Given the description of an element on the screen output the (x, y) to click on. 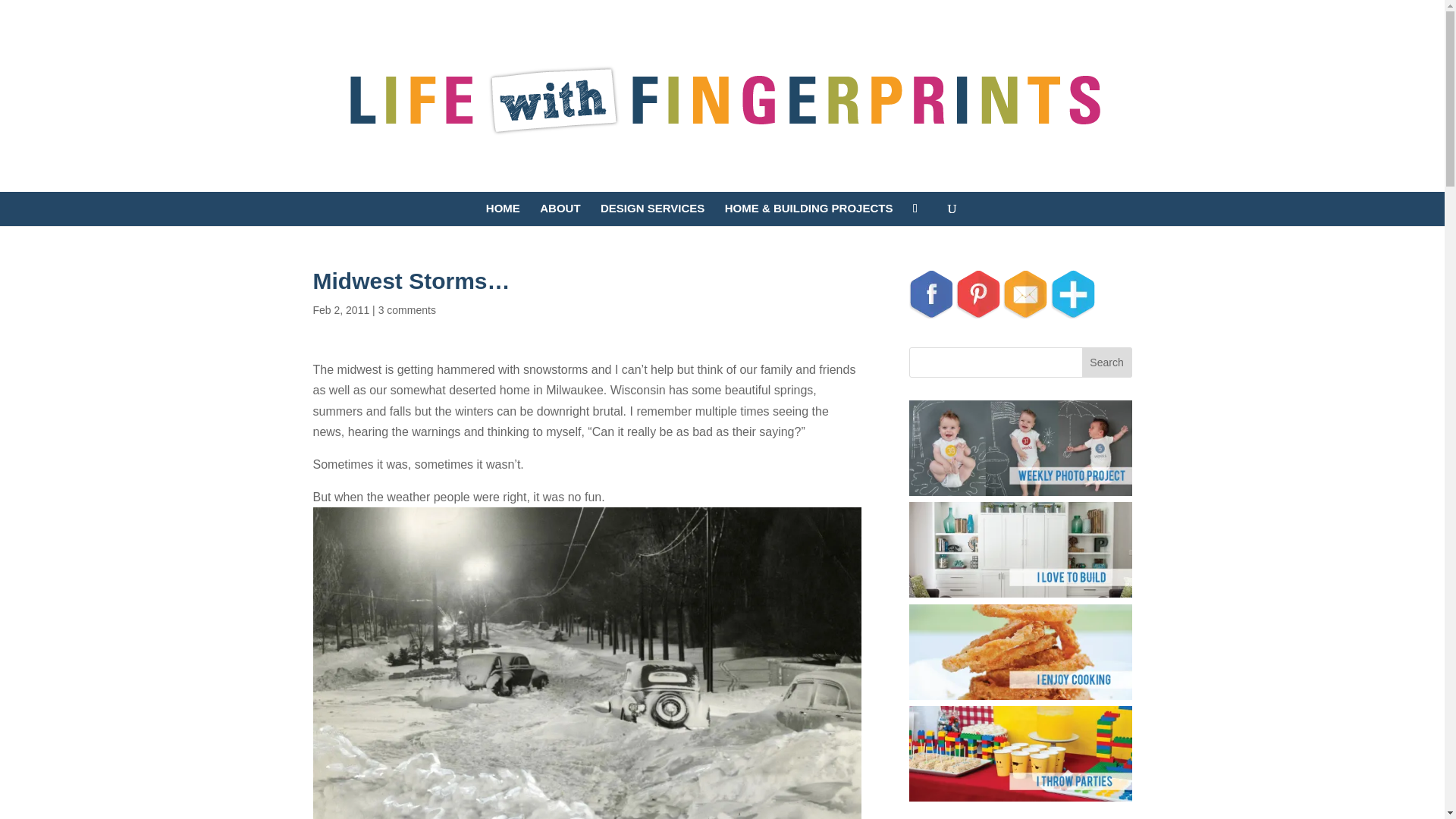
Search (1106, 362)
HOME (502, 214)
DESIGN SERVICES (651, 214)
3 comments (406, 309)
Search (1106, 362)
ABOUT (559, 214)
